Given the description of an element on the screen output the (x, y) to click on. 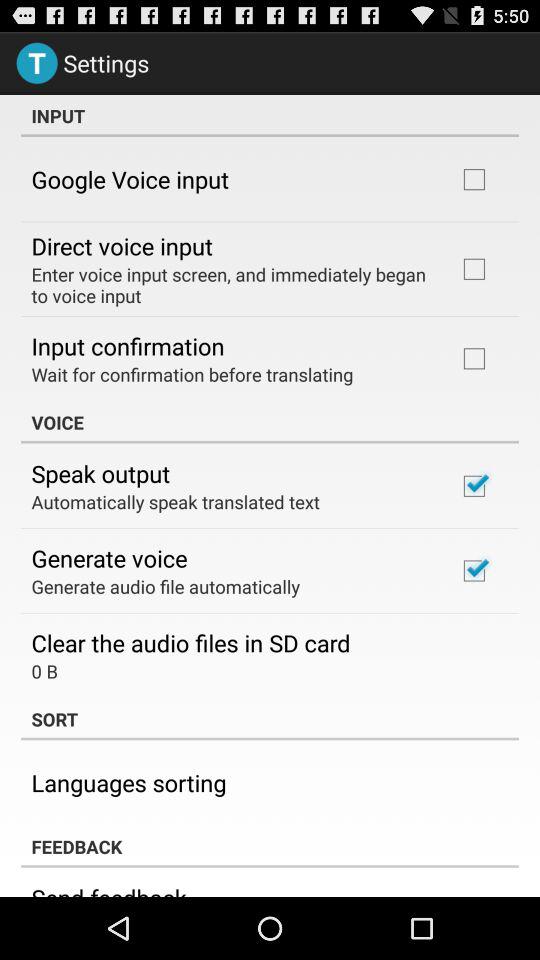
open 0 b (44, 670)
